Given the description of an element on the screen output the (x, y) to click on. 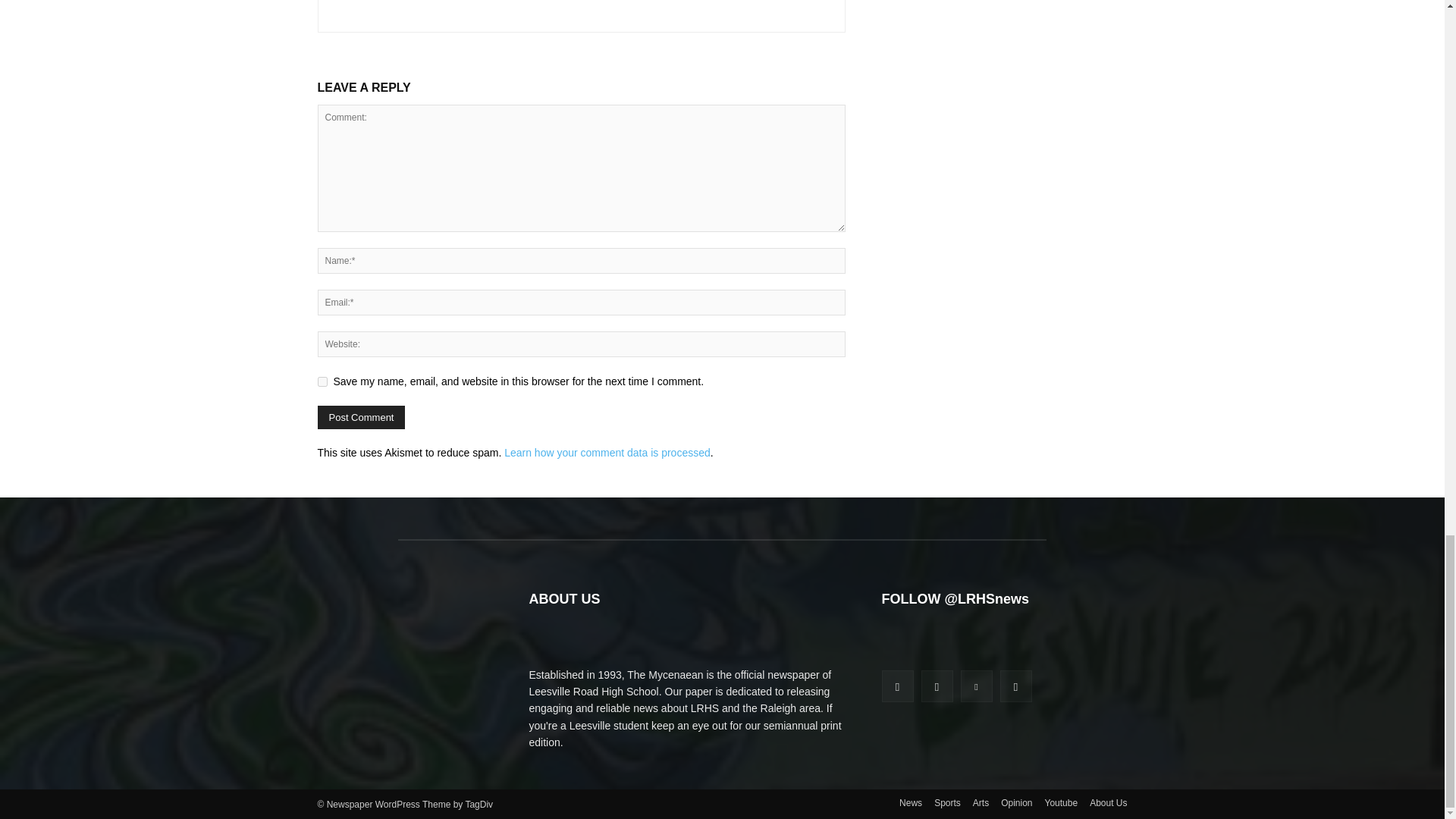
yes (321, 381)
Post Comment (360, 417)
